Given the description of an element on the screen output the (x, y) to click on. 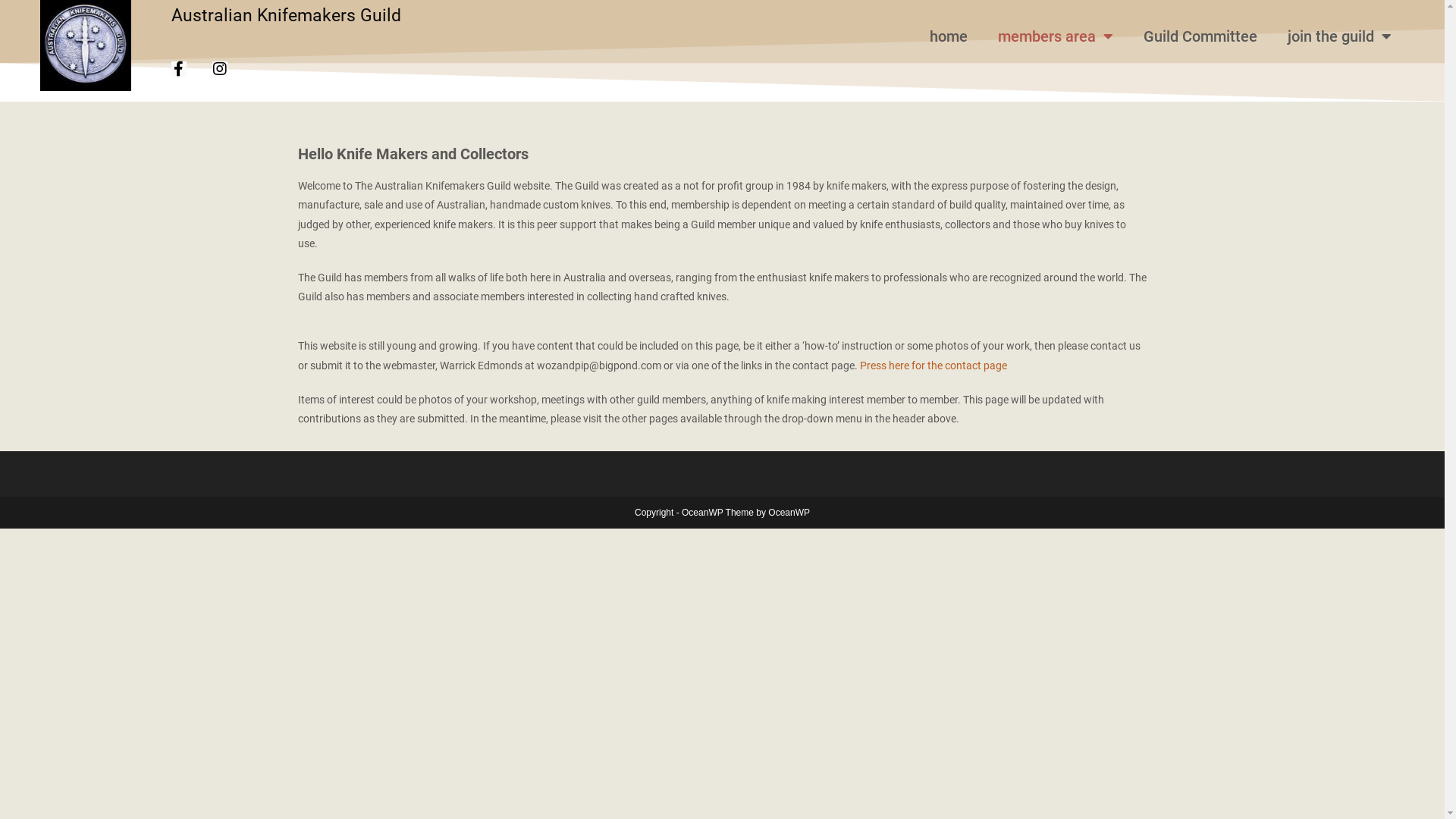
Guild Committee Element type: text (1200, 36)
members area Element type: text (1055, 36)
Press here for the contact page Element type: text (933, 365)
home Element type: text (948, 36)
join the guild Element type: text (1339, 36)
